Given the description of an element on the screen output the (x, y) to click on. 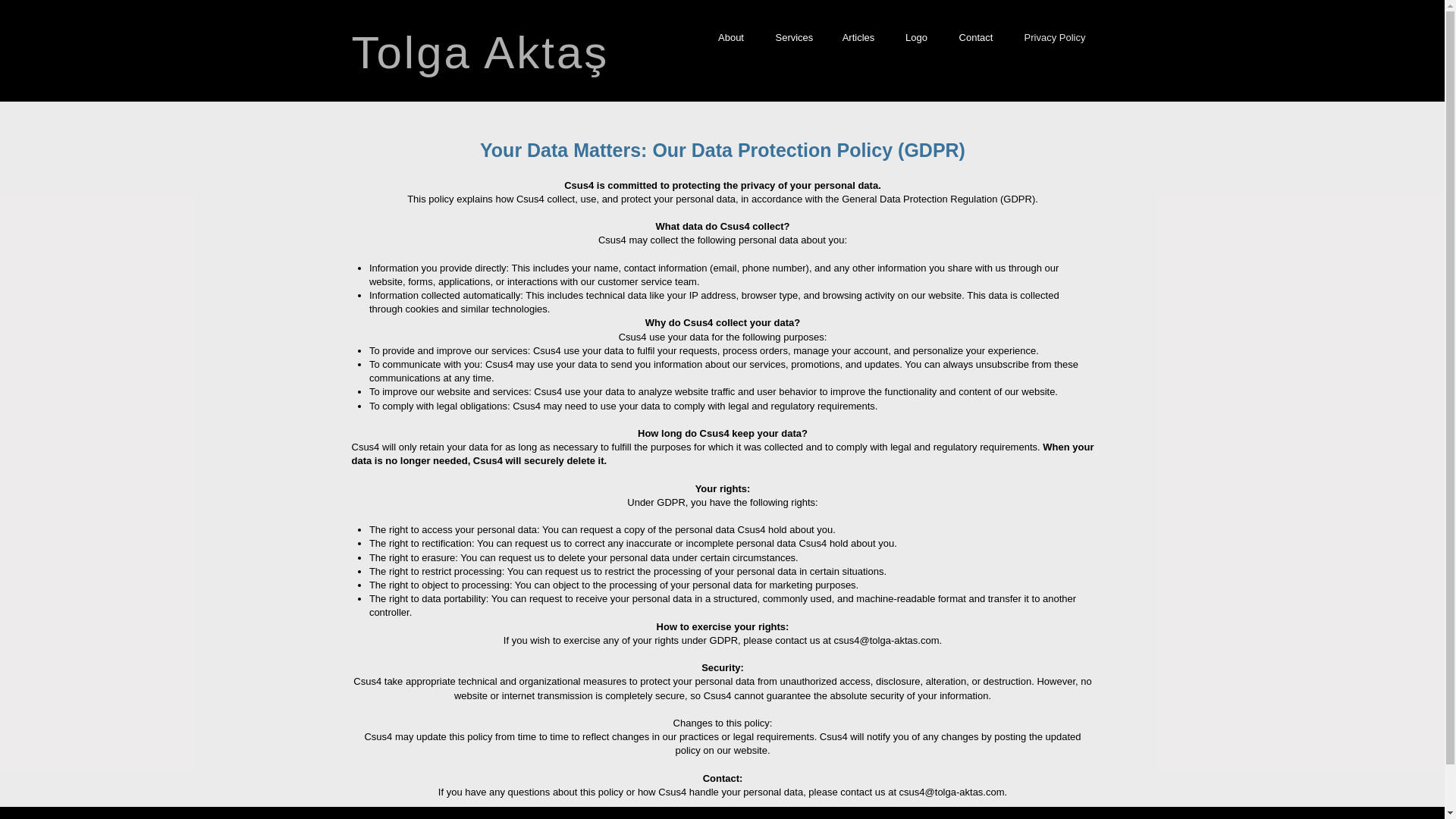
Logo (916, 36)
Privacy Policy (1054, 36)
Articles (858, 36)
About (730, 36)
Contact (976, 36)
Services (793, 36)
